Given the description of an element on the screen output the (x, y) to click on. 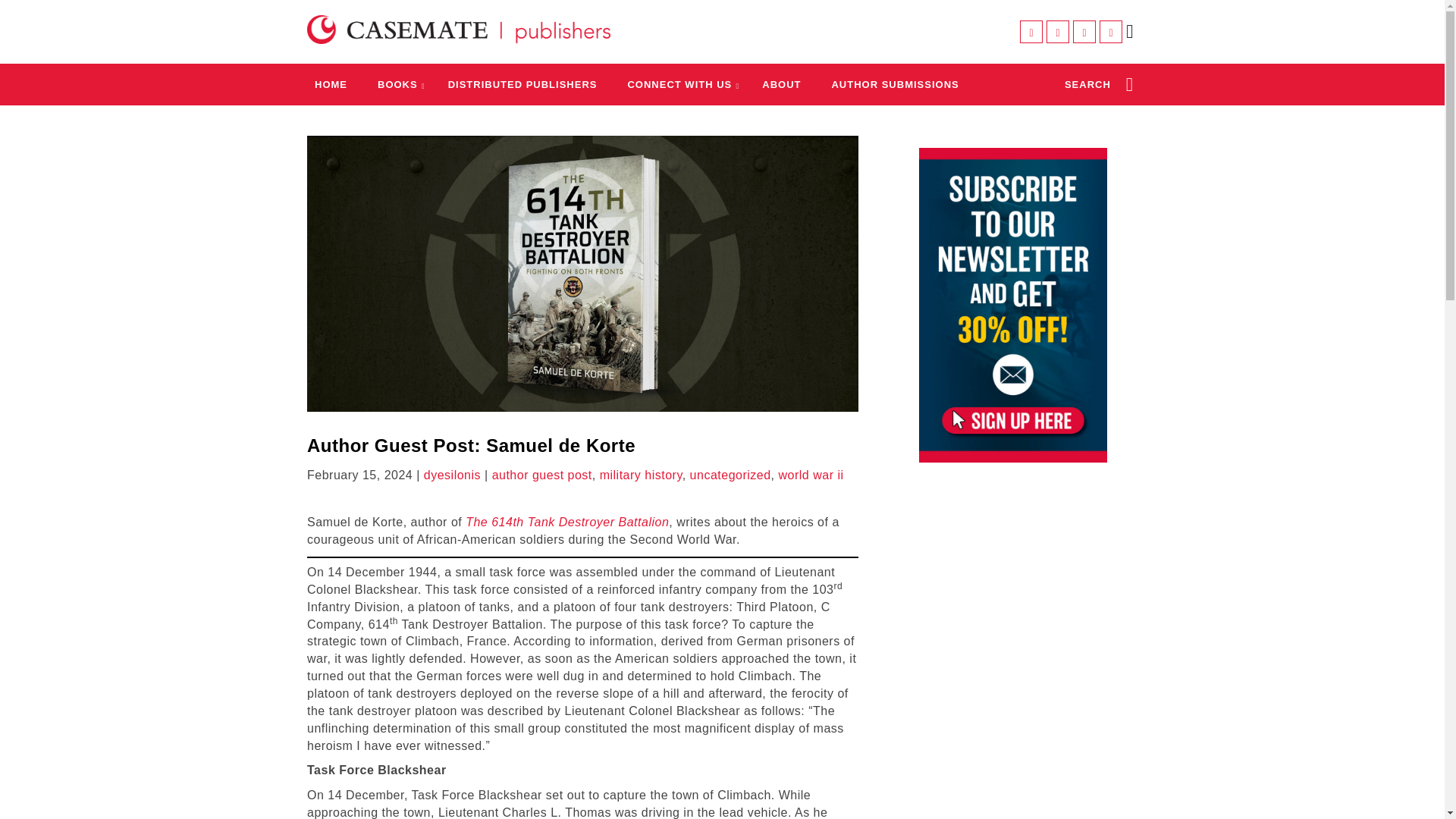
AUTHOR SUBMISSIONS (894, 84)
Follow us on LinkedIn (1110, 31)
DISTRIBUTED PUBLISHERS (522, 84)
ABOUT (780, 84)
Follow us on Instagram (1084, 31)
Follow us on Facebook (1031, 31)
BOOKS (397, 84)
HOME (330, 84)
CONNECT WITH US (679, 84)
